Given the description of an element on the screen output the (x, y) to click on. 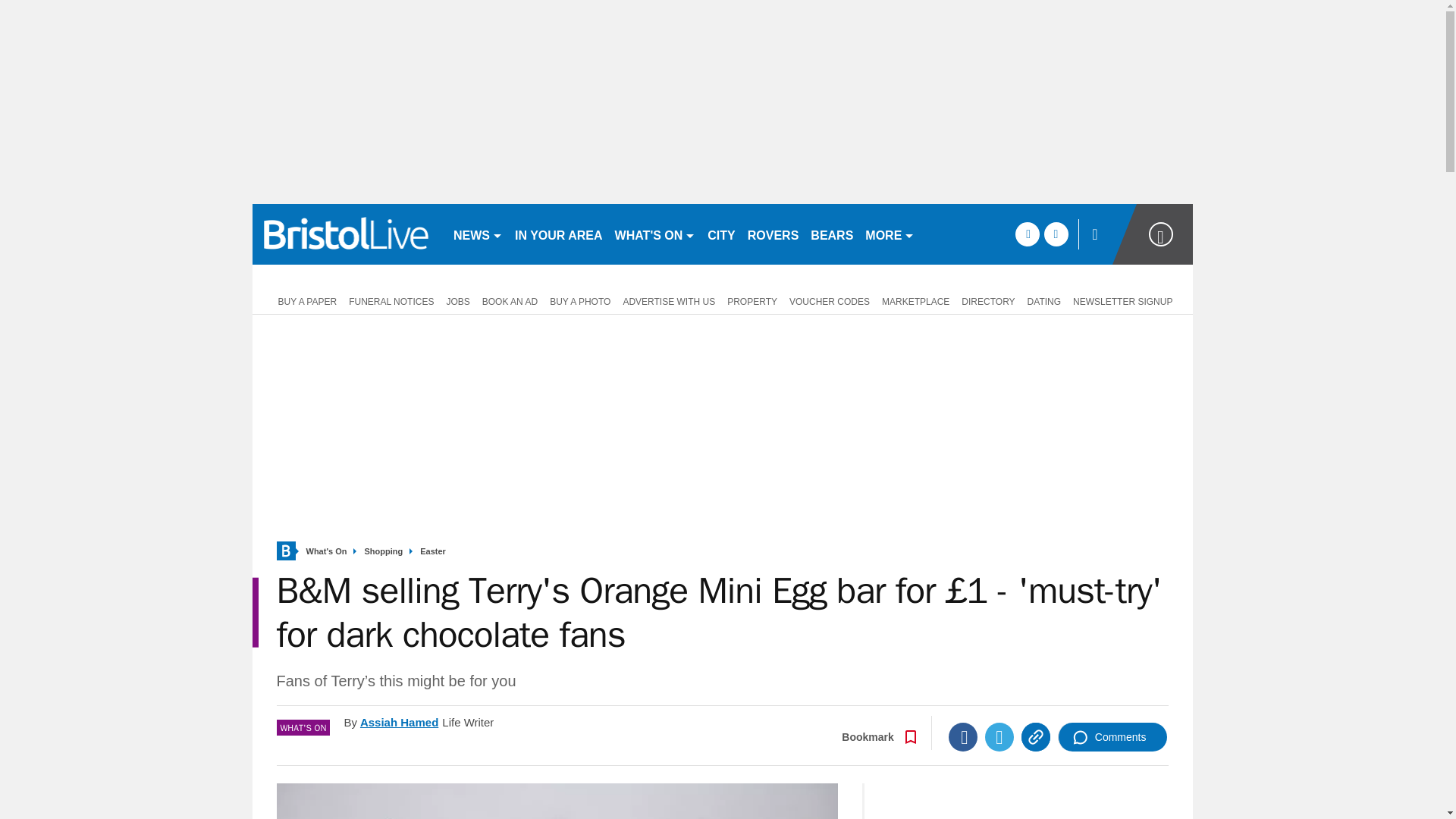
Facebook (962, 736)
twitter (1055, 233)
NEWS (477, 233)
WHAT'S ON (654, 233)
MORE (889, 233)
Twitter (999, 736)
IN YOUR AREA (558, 233)
BEARS (832, 233)
ROVERS (773, 233)
bristolpost (345, 233)
